Given the description of an element on the screen output the (x, y) to click on. 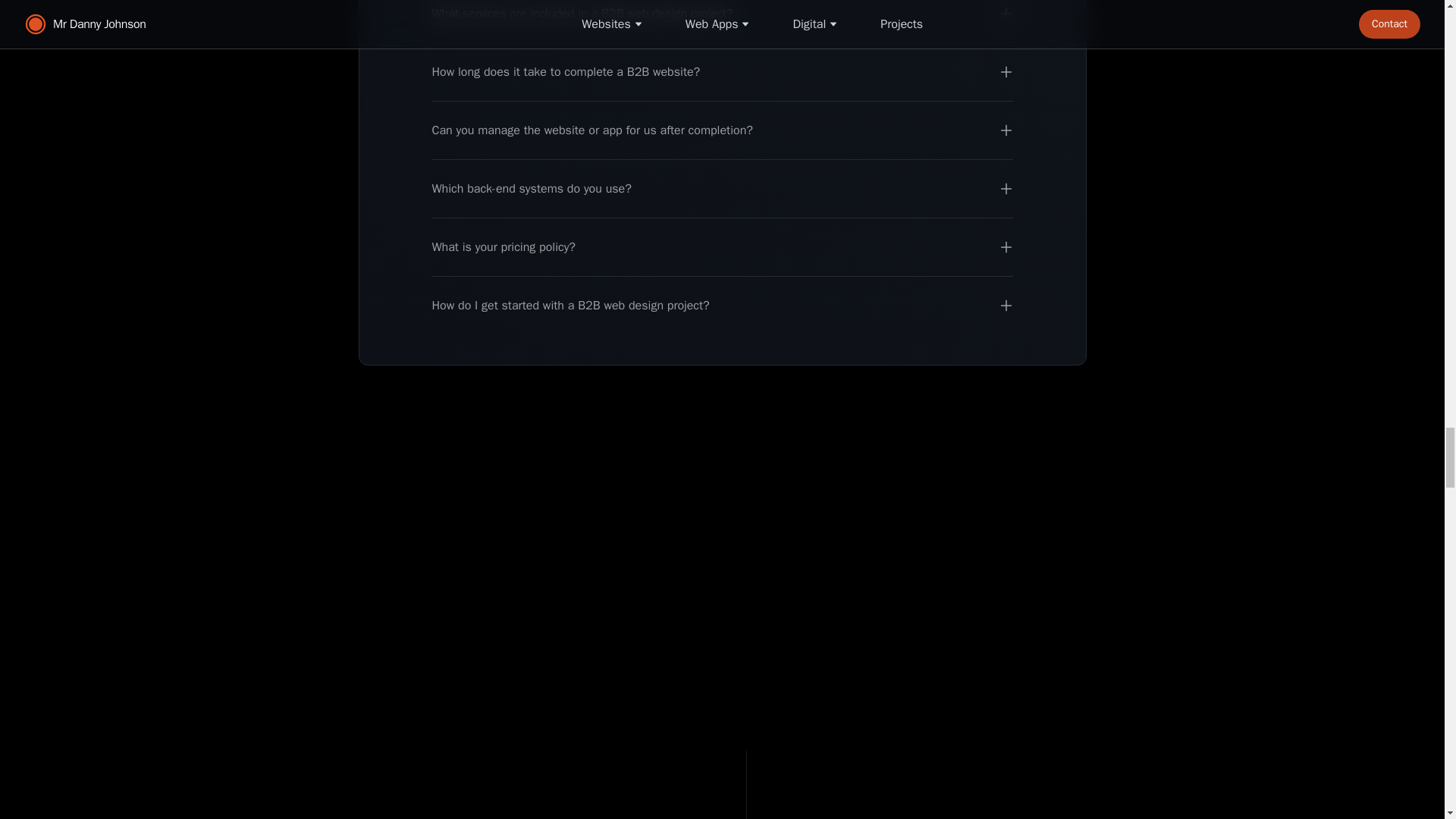
How long does it take to complete a B2B website? (722, 71)
What is your pricing policy? (722, 246)
How do I get started with a B2B web design project? (722, 305)
Which back-end systems do you use? (722, 188)
What services are included in a B2B web design project? (722, 13)
Can you manage the website or app for us after completion? (722, 129)
